Given the description of an element on the screen output the (x, y) to click on. 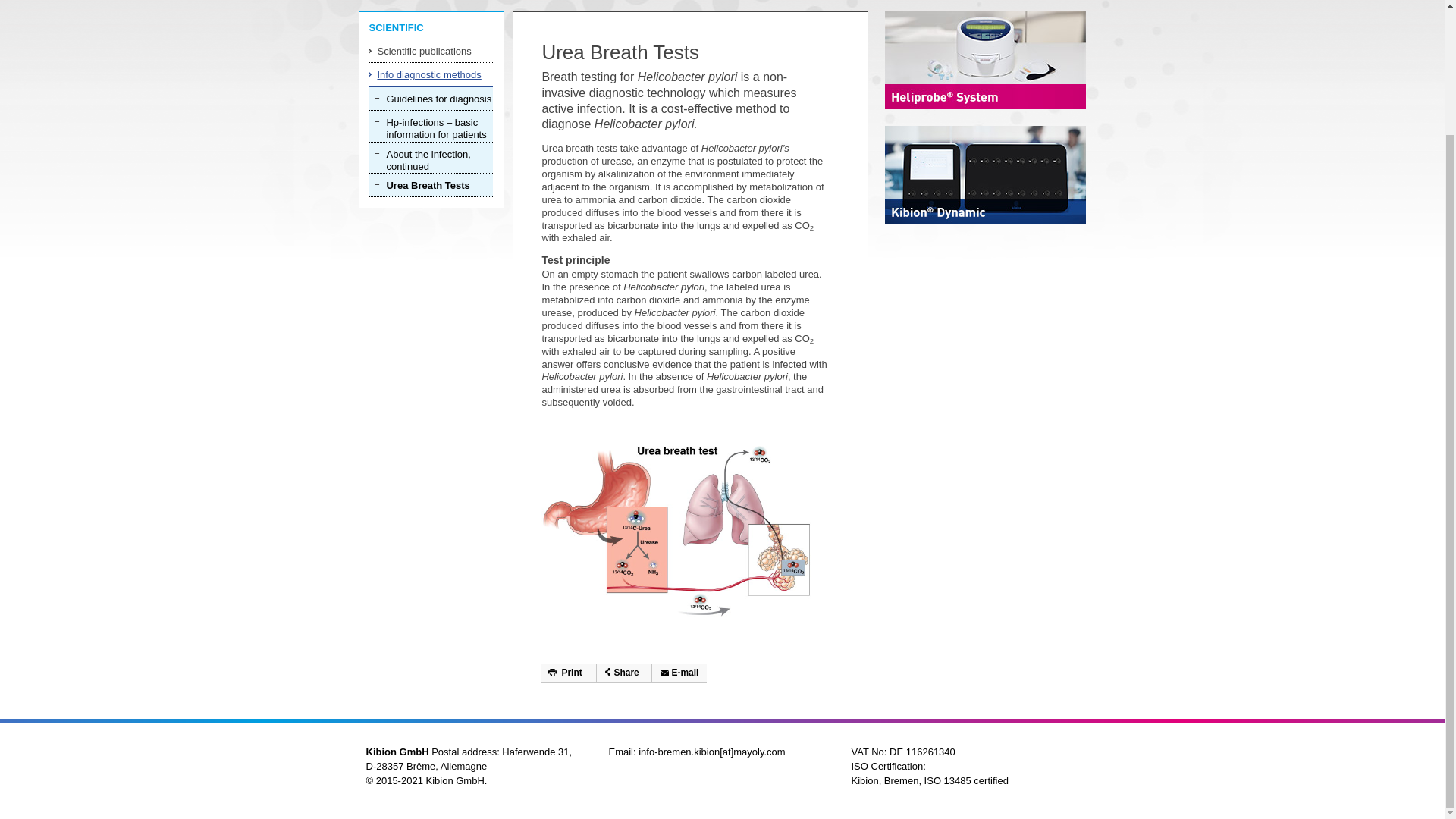
Print (568, 673)
Urea Breath Tests (430, 184)
Scientific publications (430, 50)
Share (623, 673)
About the infection, continued (430, 157)
E-mail (679, 673)
Info diagnostic methods (430, 74)
Guidelines for diagnosis (430, 97)
